Given the description of an element on the screen output the (x, y) to click on. 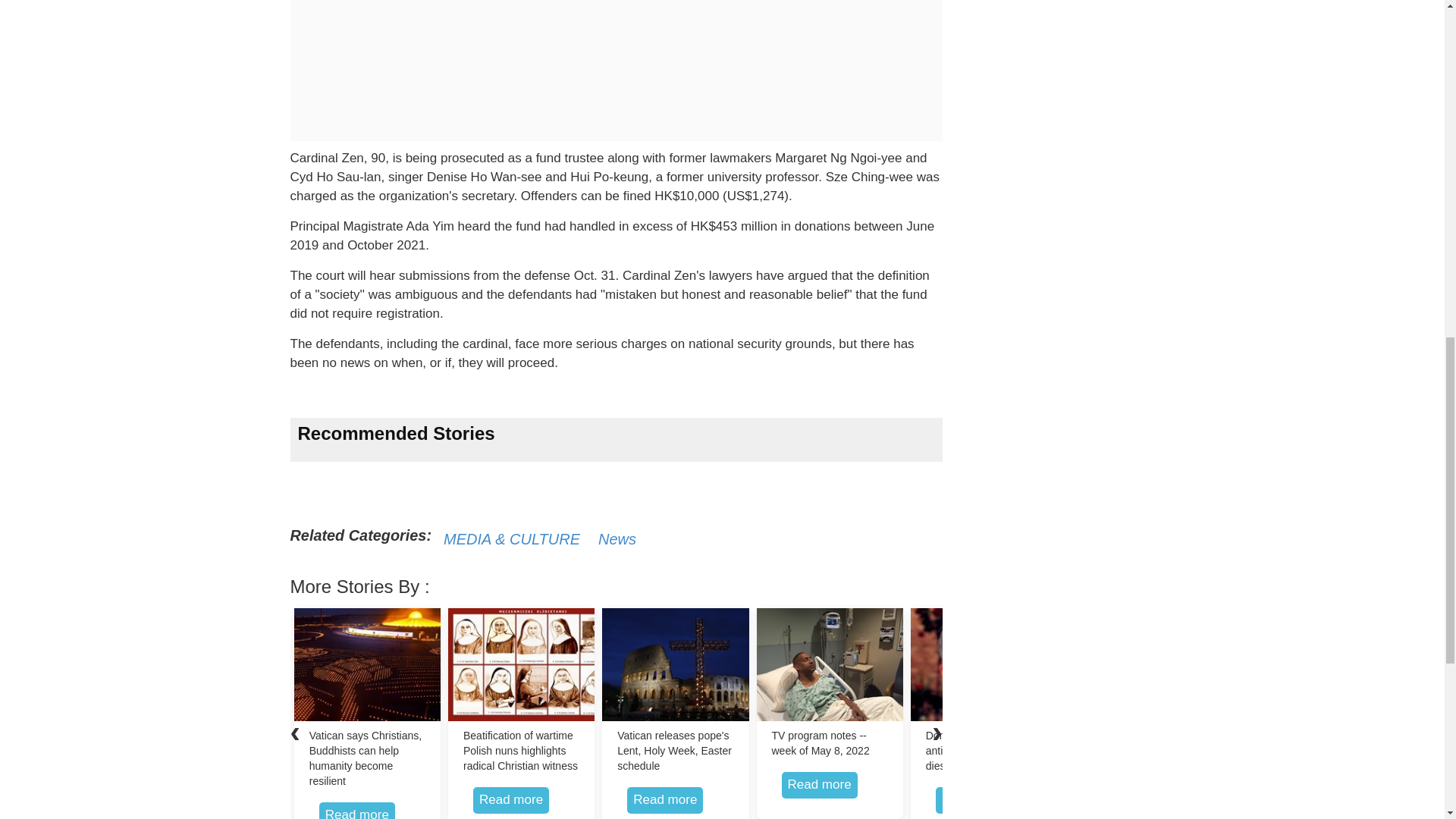
News (617, 538)
